Given the description of an element on the screen output the (x, y) to click on. 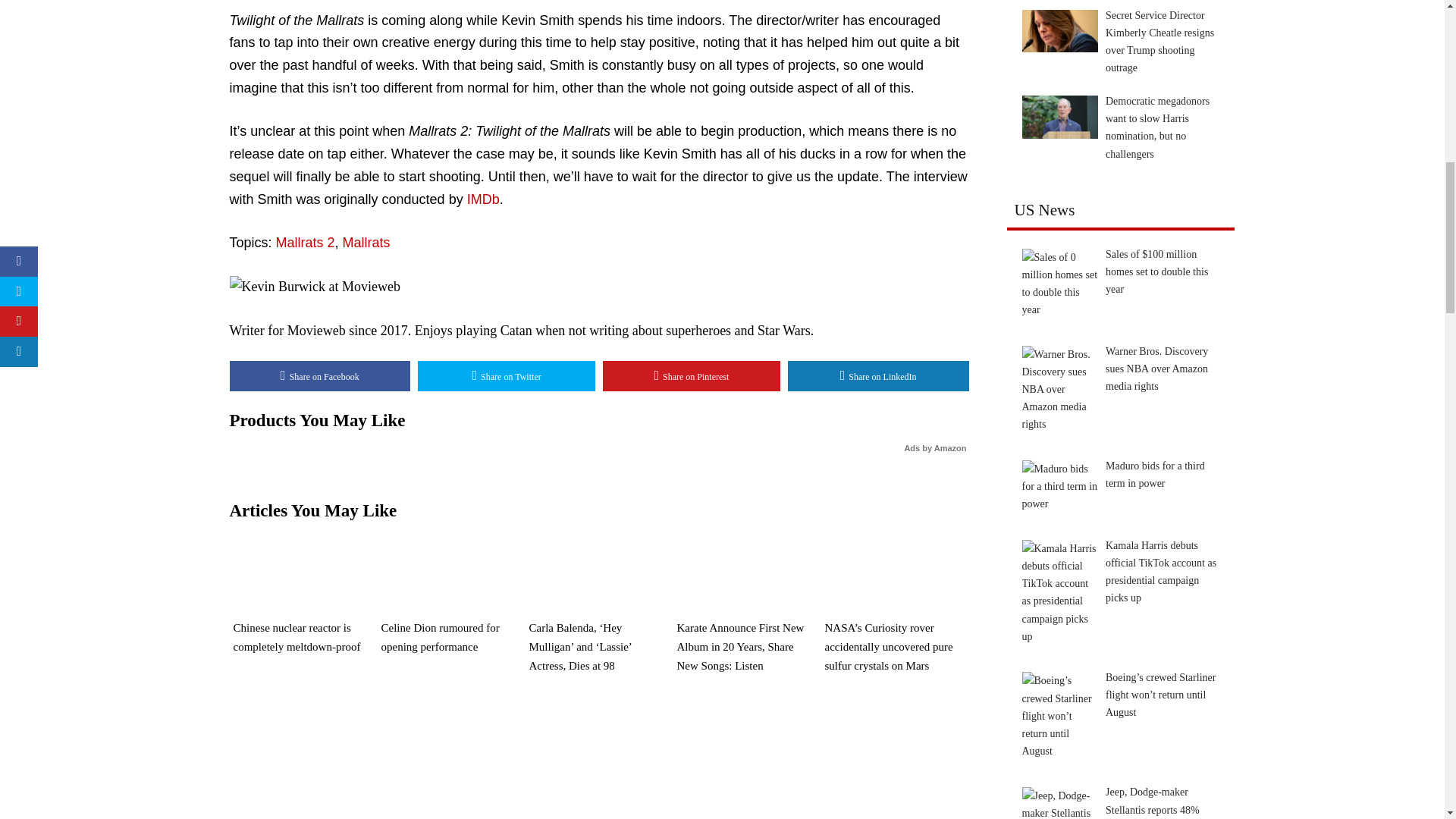
Sales of 0 million homes set to double this year (1059, 283)
Maduro bids for a third term in power (1059, 486)
